Given the description of an element on the screen output the (x, y) to click on. 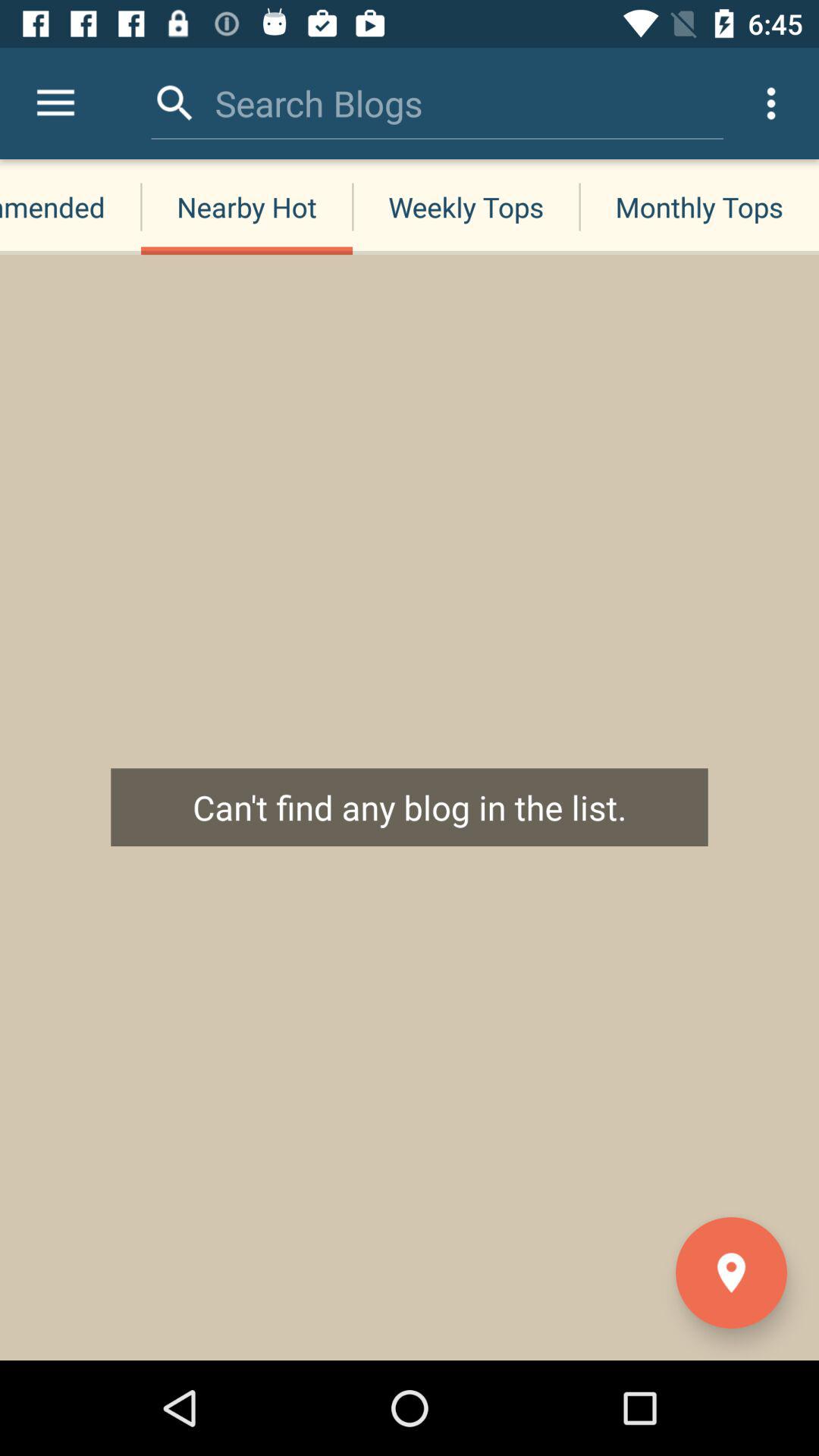
launch icon next to nearby hot (55, 103)
